Given the description of an element on the screen output the (x, y) to click on. 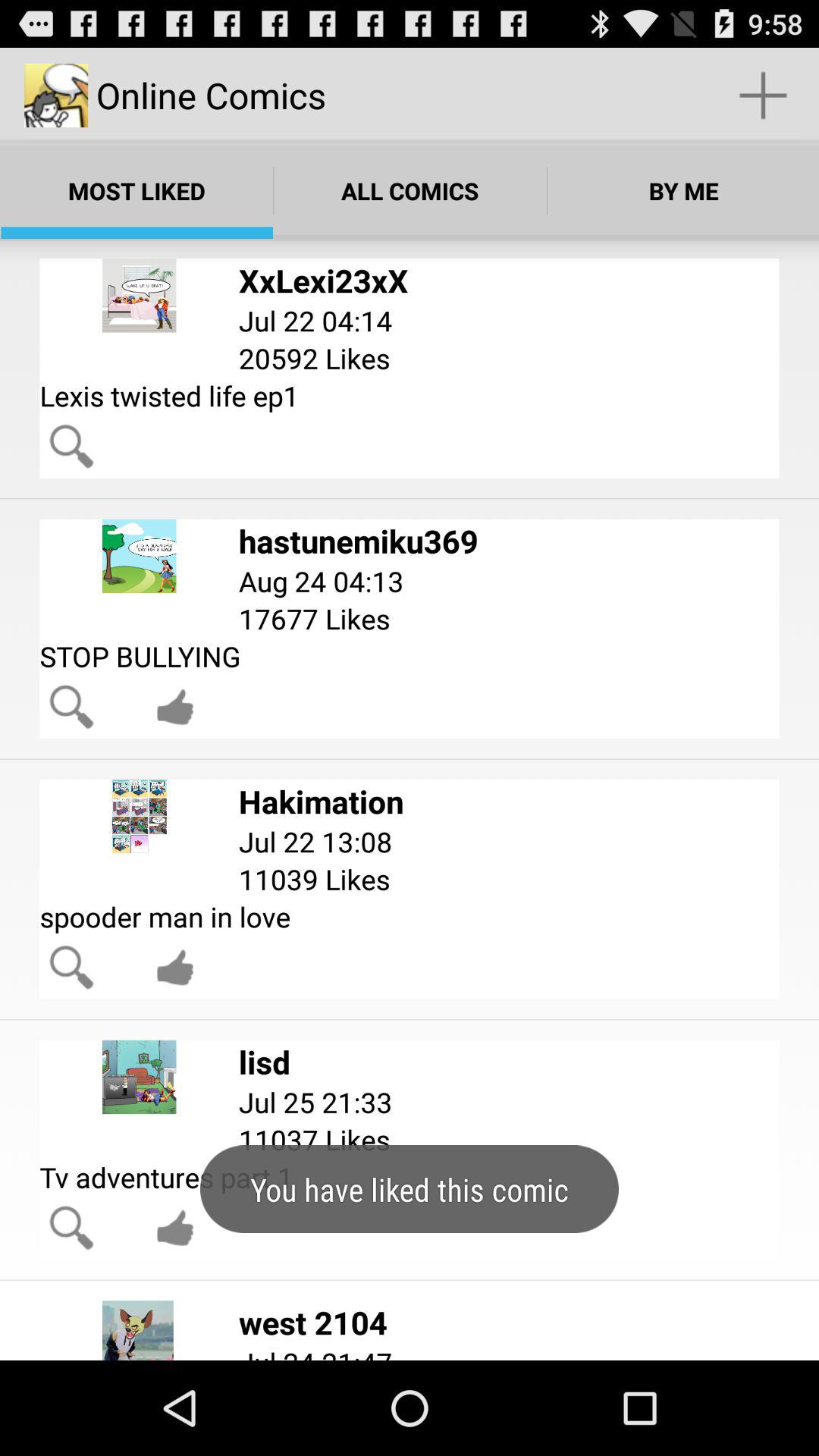
creating funny meme cartoon comic anime and manga (175, 1227)
